Given the description of an element on the screen output the (x, y) to click on. 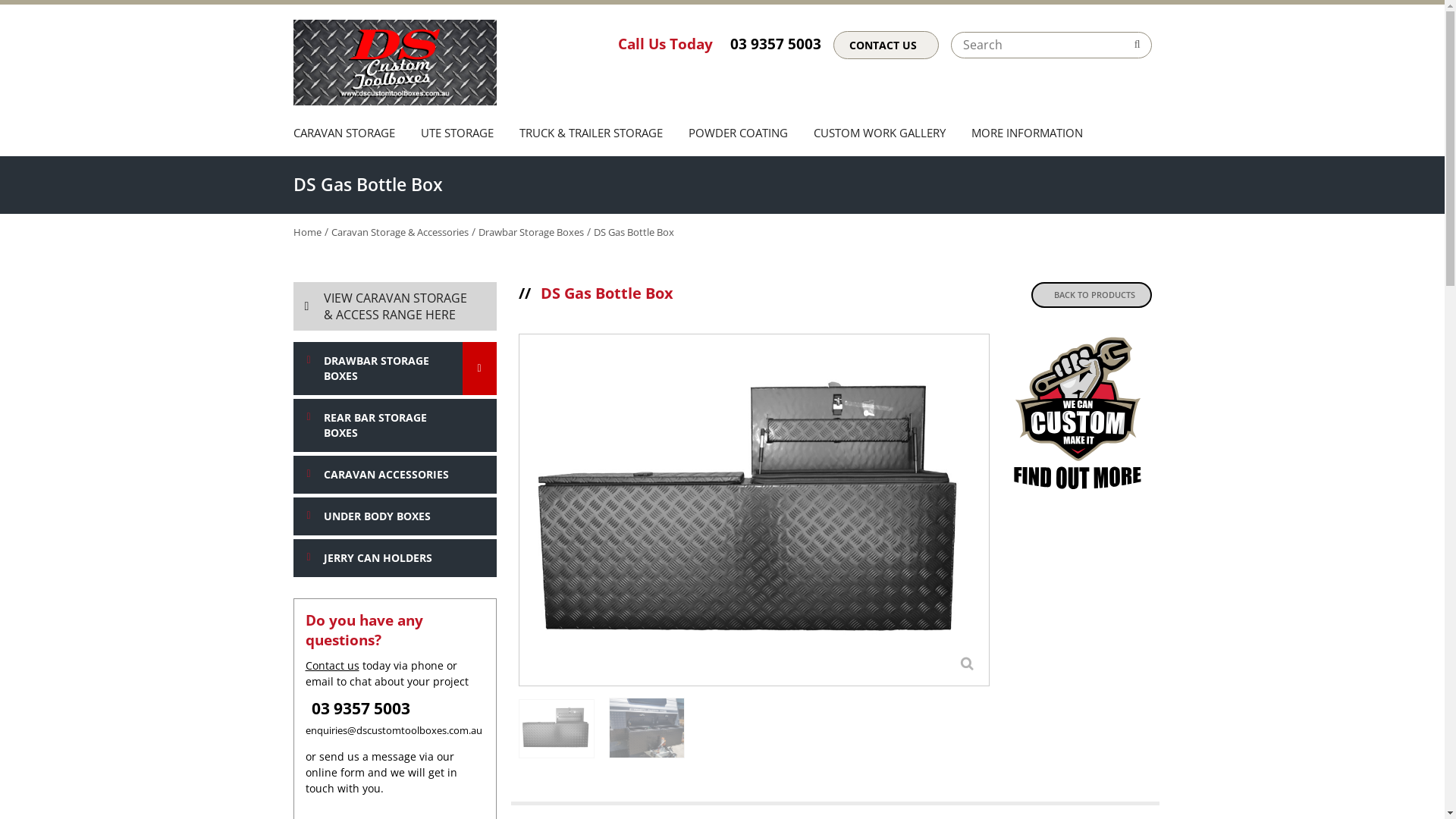
enquiries@dscustomtoolboxes.com.au Element type: text (393, 730)
Home Element type: text (306, 231)
JERRY CAN HOLDERS Element type: text (393, 558)
REAR BAR STORAGE BOXES Element type: text (393, 424)
Drawbar Storage Boxes Element type: text (530, 231)
CARAVAN STORAGE Element type: text (349, 134)
CUSTOM WORK GALLERY Element type: text (879, 134)
Caravan Storage & Accessories Element type: text (398, 231)
CONTACT US Element type: text (885, 45)
UNDER BODY BOXES Element type: text (393, 516)
DRAWBAR STORAGE BOXES Element type: text (393, 368)
03 9357 5003 Element type: text (359, 707)
UTE STORAGE Element type: text (456, 134)
Contact us Element type: text (331, 665)
Search for: Element type: hover (1050, 44)
MORE INFORMATION Element type: text (1020, 134)
TRUCK & TRAILER STORAGE Element type: text (590, 134)
BACK TO PRODUCTS Element type: text (1091, 294)
POWDER COATING Element type: text (737, 134)
CARAVAN ACCESSORIES Element type: text (393, 474)
03 9357 5003 Element type: text (774, 43)
